Given the description of an element on the screen output the (x, y) to click on. 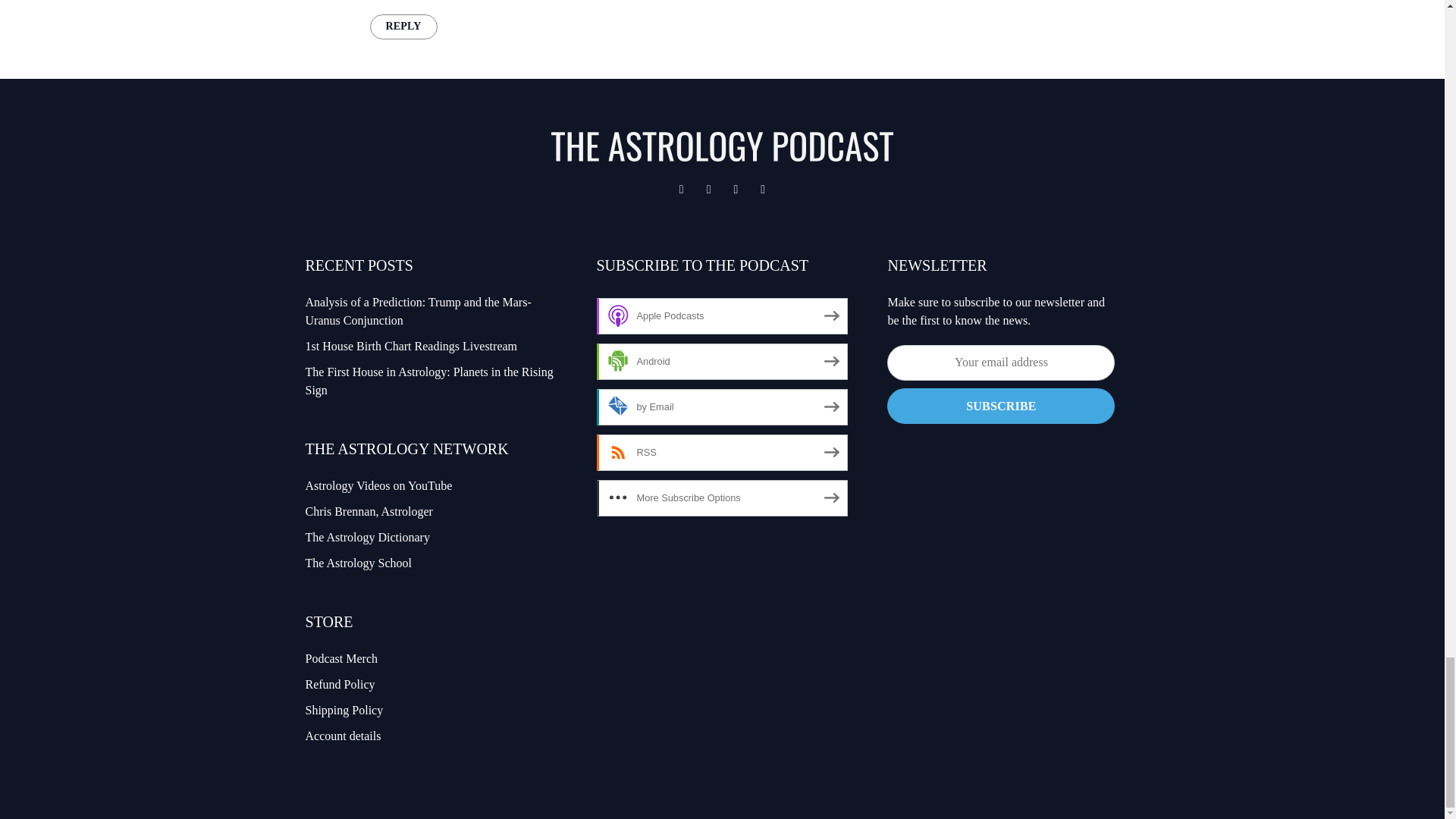
More Subscribe Options (721, 497)
Subscribe via RSS (721, 452)
Subscribe (1000, 406)
Subscribe on Android (721, 361)
Subscribe by Email (721, 407)
Subscribe on Apple Podcasts (721, 316)
